Given the description of an element on the screen output the (x, y) to click on. 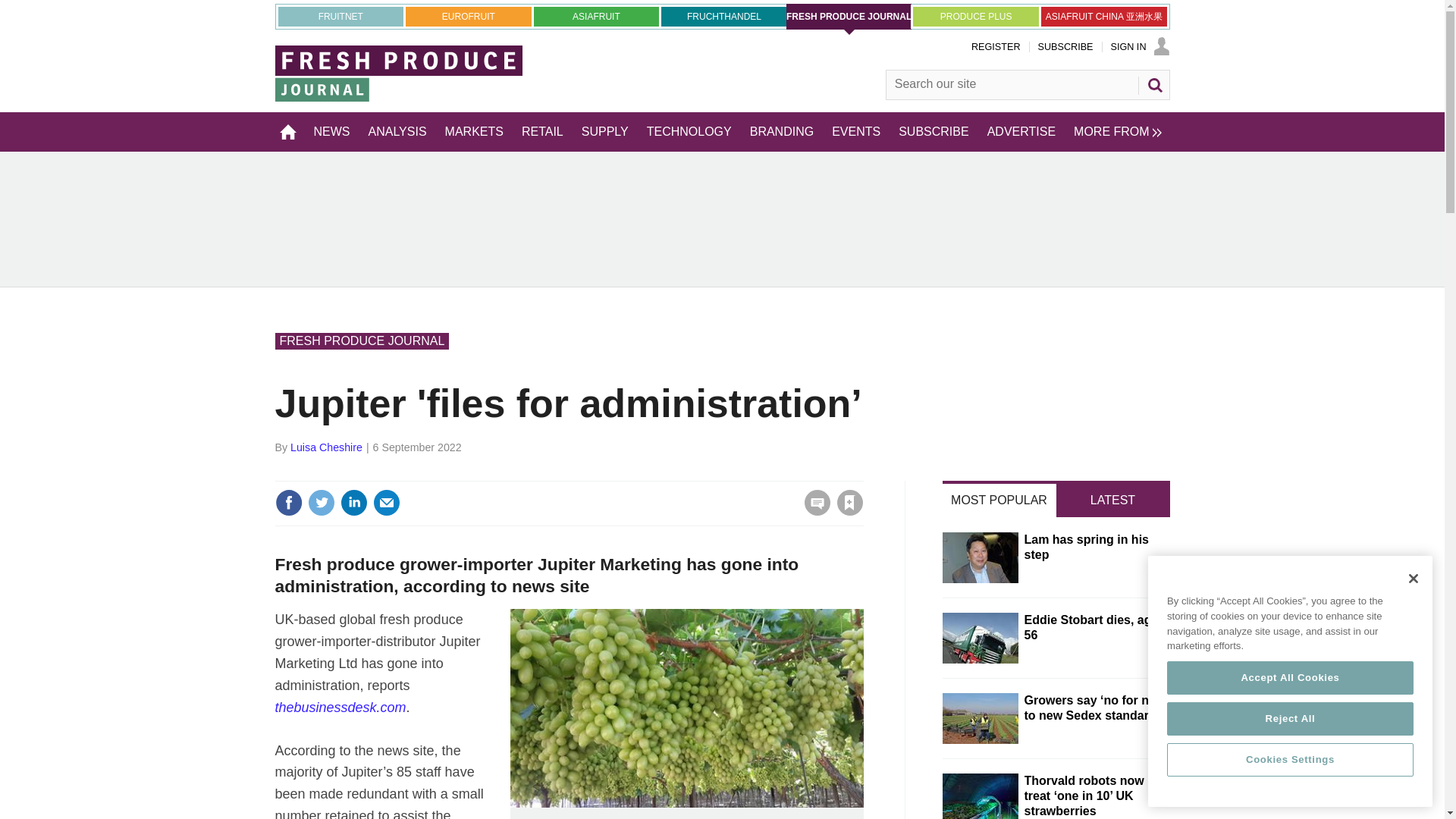
SUBSCRIBE (1065, 46)
No comments (812, 511)
NEWS (331, 131)
FRUITNET (340, 16)
Share this on Twitter (320, 502)
FRESH PRODUCE JOURNAL (849, 16)
ASIAFRUIT (596, 16)
3rd party ad content (722, 218)
Share this on Linked in (352, 502)
SIGN IN (1139, 46)
PRODUCE PLUS (975, 16)
EUROFRUIT (468, 16)
REGISTER (995, 46)
Share this on Facebook (288, 502)
FRUCHTHANDEL (724, 16)
